Given the description of an element on the screen output the (x, y) to click on. 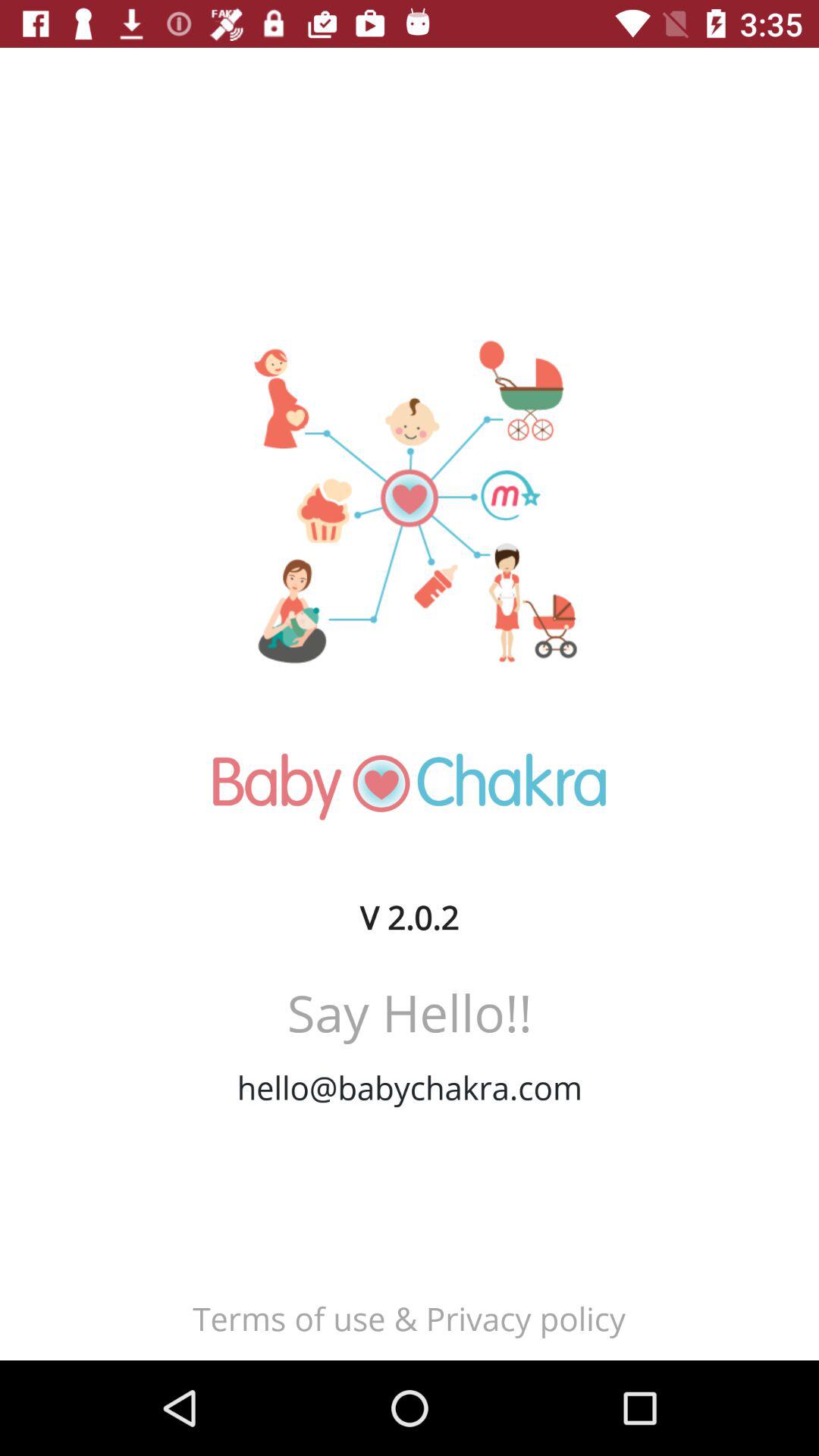
flip until hello@babychakra.com icon (409, 1087)
